Given the description of an element on the screen output the (x, y) to click on. 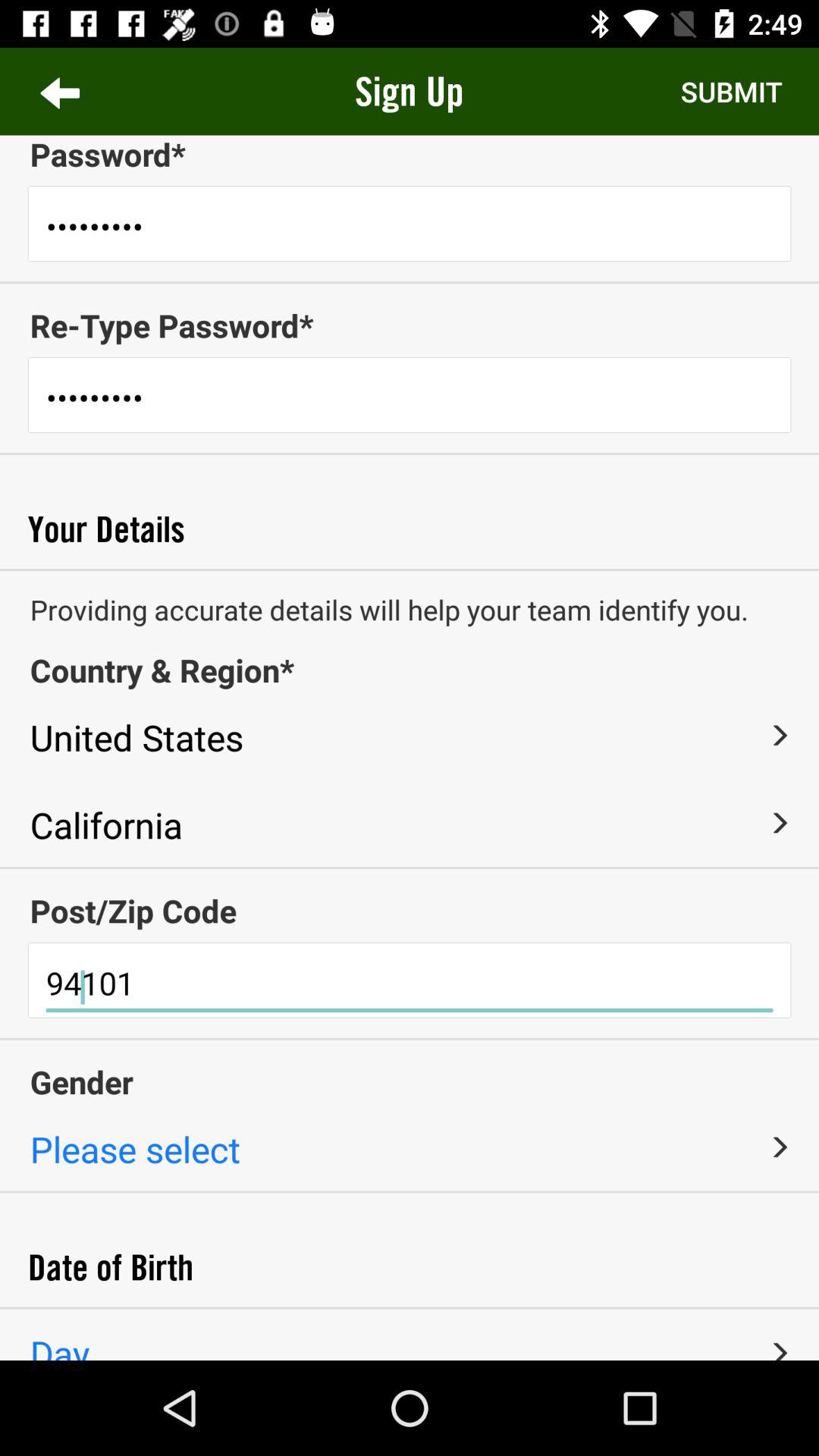
scroll to the gender icon (409, 1081)
